Given the description of an element on the screen output the (x, y) to click on. 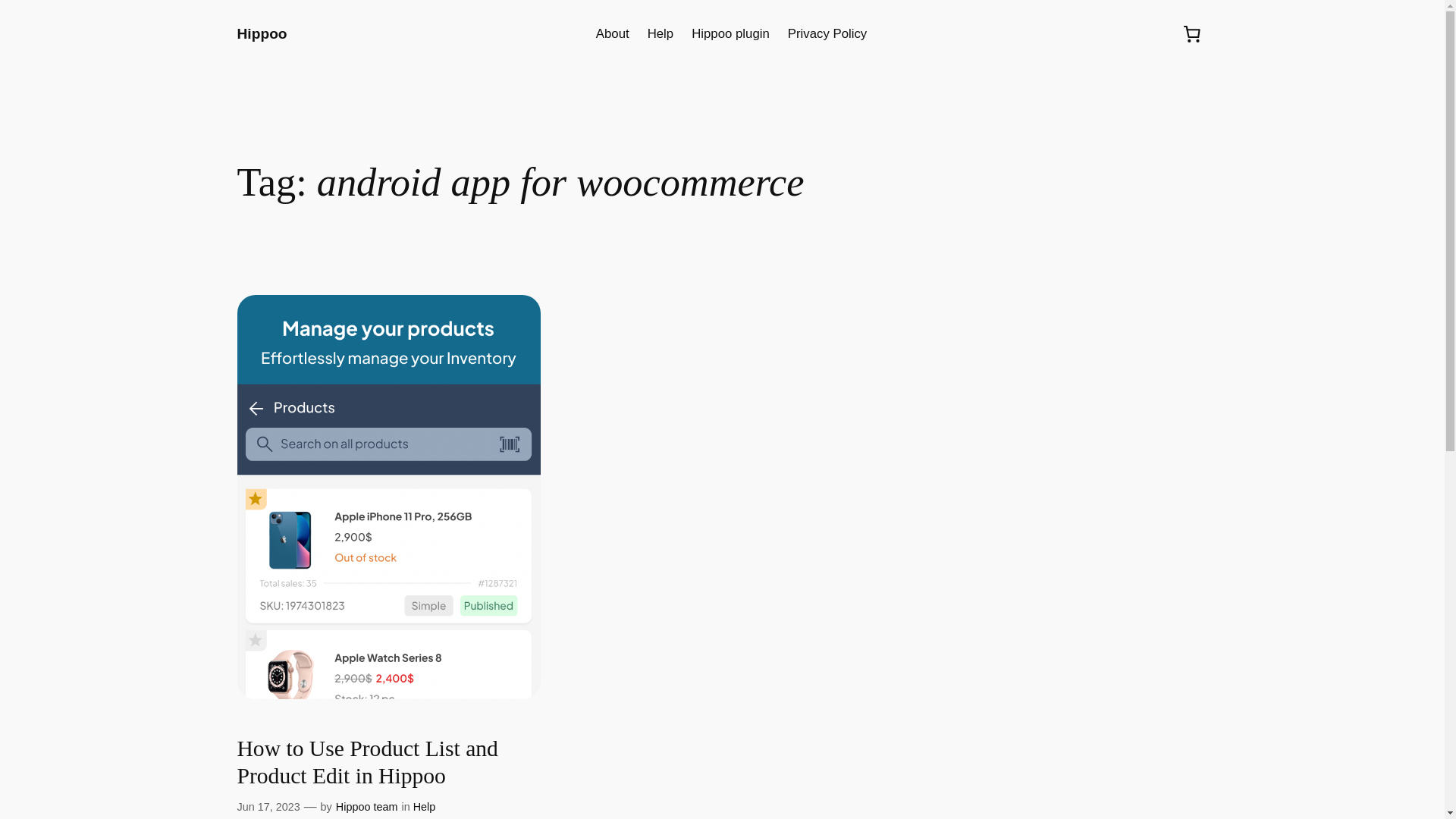
Hippoo team (366, 806)
Hippoo plugin (730, 34)
Help (424, 806)
About (611, 34)
Hippoo (260, 33)
Jun 17, 2023 (267, 806)
How to Use Product List and Product Edit in Hippoo (387, 762)
Privacy Policy (826, 34)
Help (660, 34)
